Given the description of an element on the screen output the (x, y) to click on. 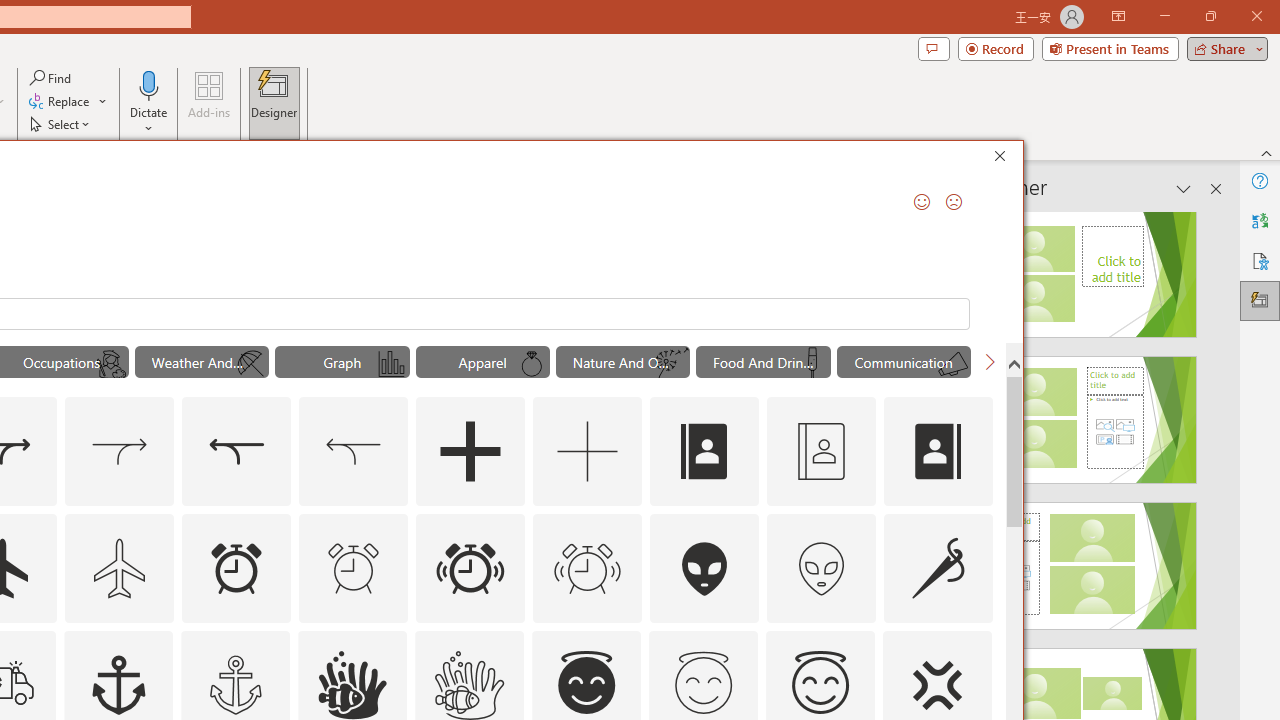
AutomationID: Icons_Add_M (587, 452)
